Given the description of an element on the screen output the (x, y) to click on. 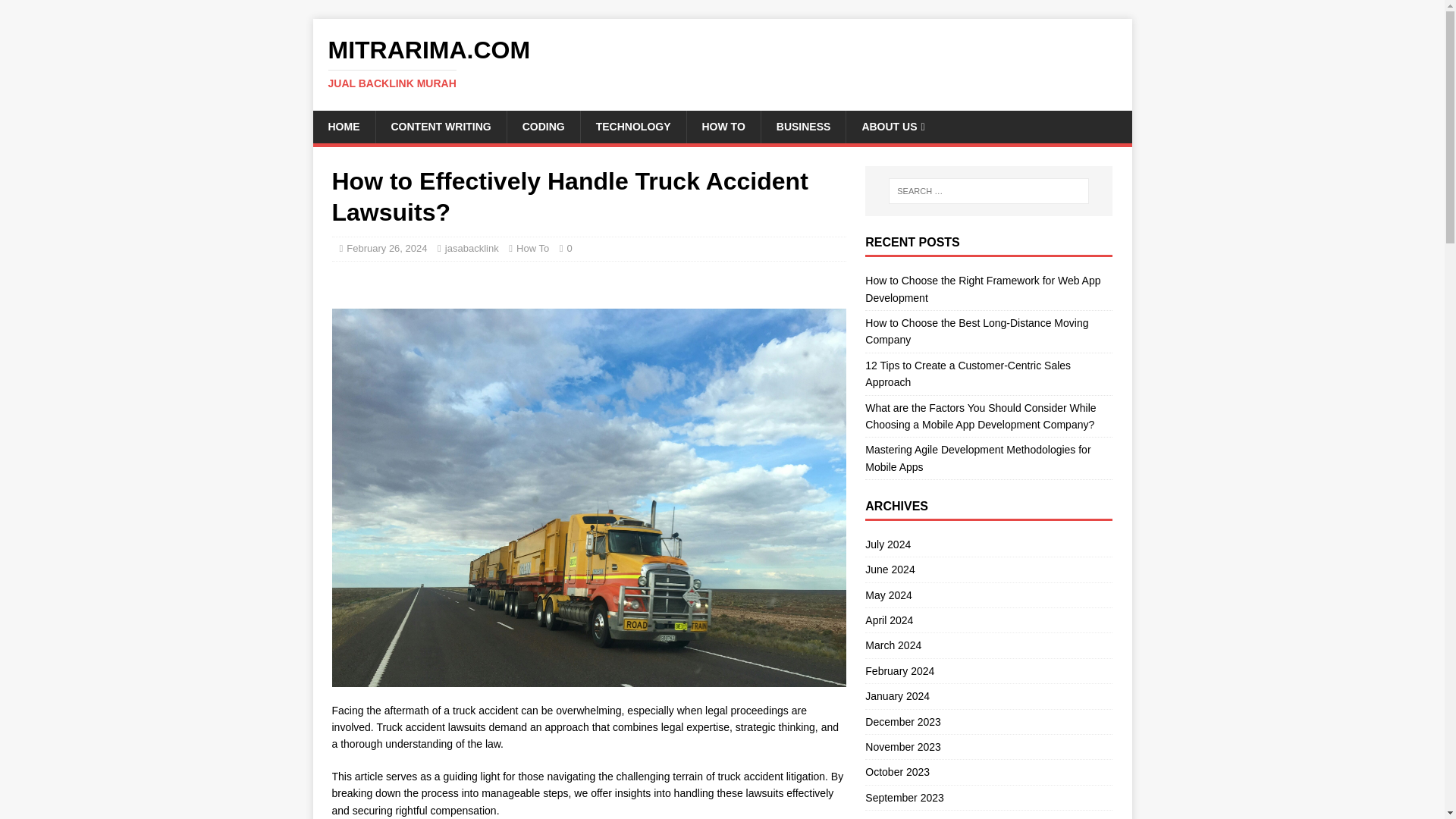
Search (56, 11)
CONTENT WRITING (439, 126)
March 2024 (988, 645)
0 (569, 247)
June 2024 (988, 569)
July 2024 (988, 546)
TECHNOLOGY (632, 126)
How to Choose the Right Framework for Web App Development (982, 288)
jasabacklink (472, 247)
February 26, 2024 (386, 247)
HOME (343, 126)
How To (532, 247)
HOW TO (722, 126)
Mastering Agile Development Methodologies for Mobile Apps (977, 457)
